Given the description of an element on the screen output the (x, y) to click on. 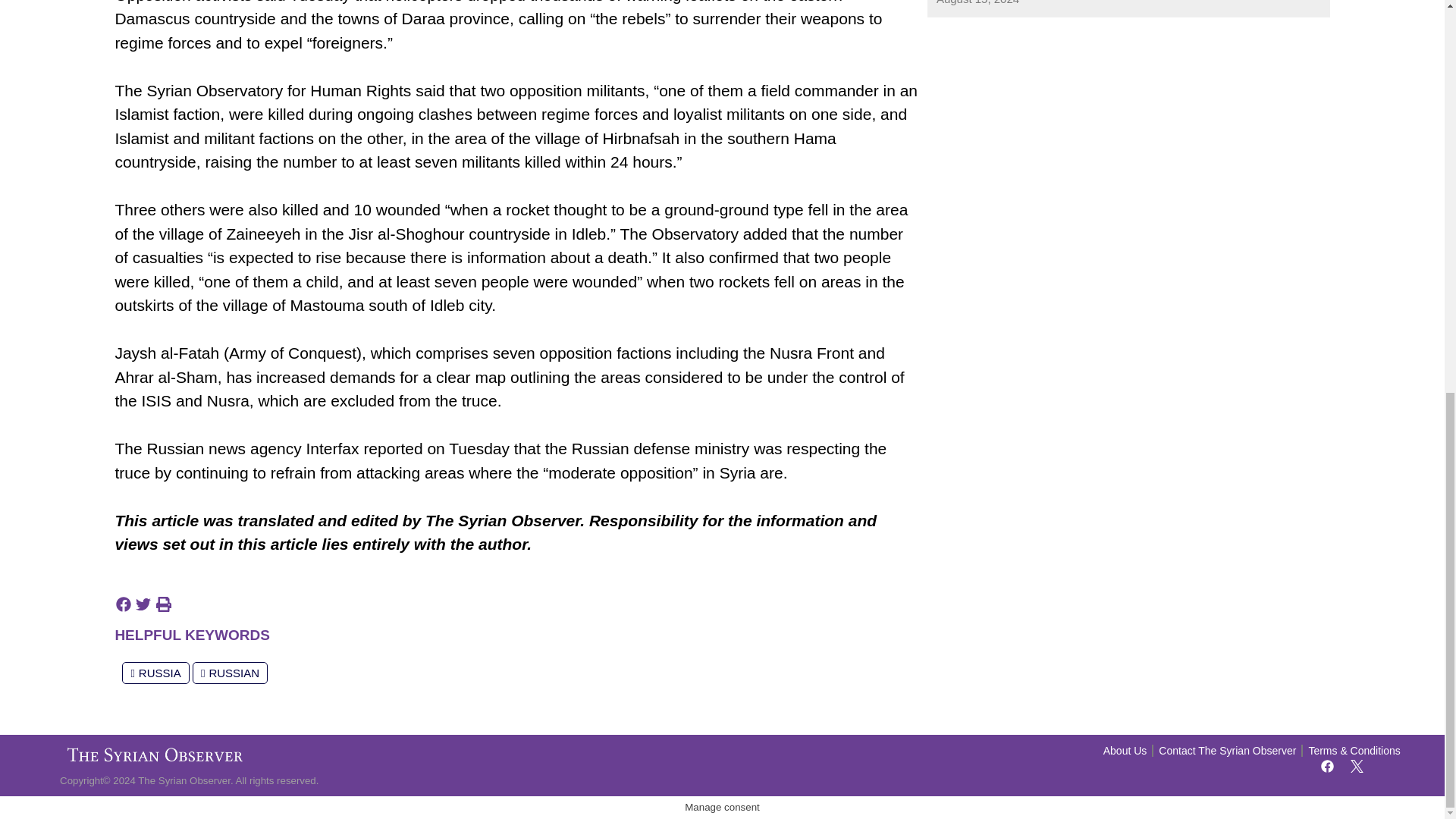
Contact The Syrian Observer (1227, 750)
About Us (1125, 750)
RUSSIA (155, 672)
RUSSIAN (229, 672)
August 15, 2024 (977, 4)
